Given the description of an element on the screen output the (x, y) to click on. 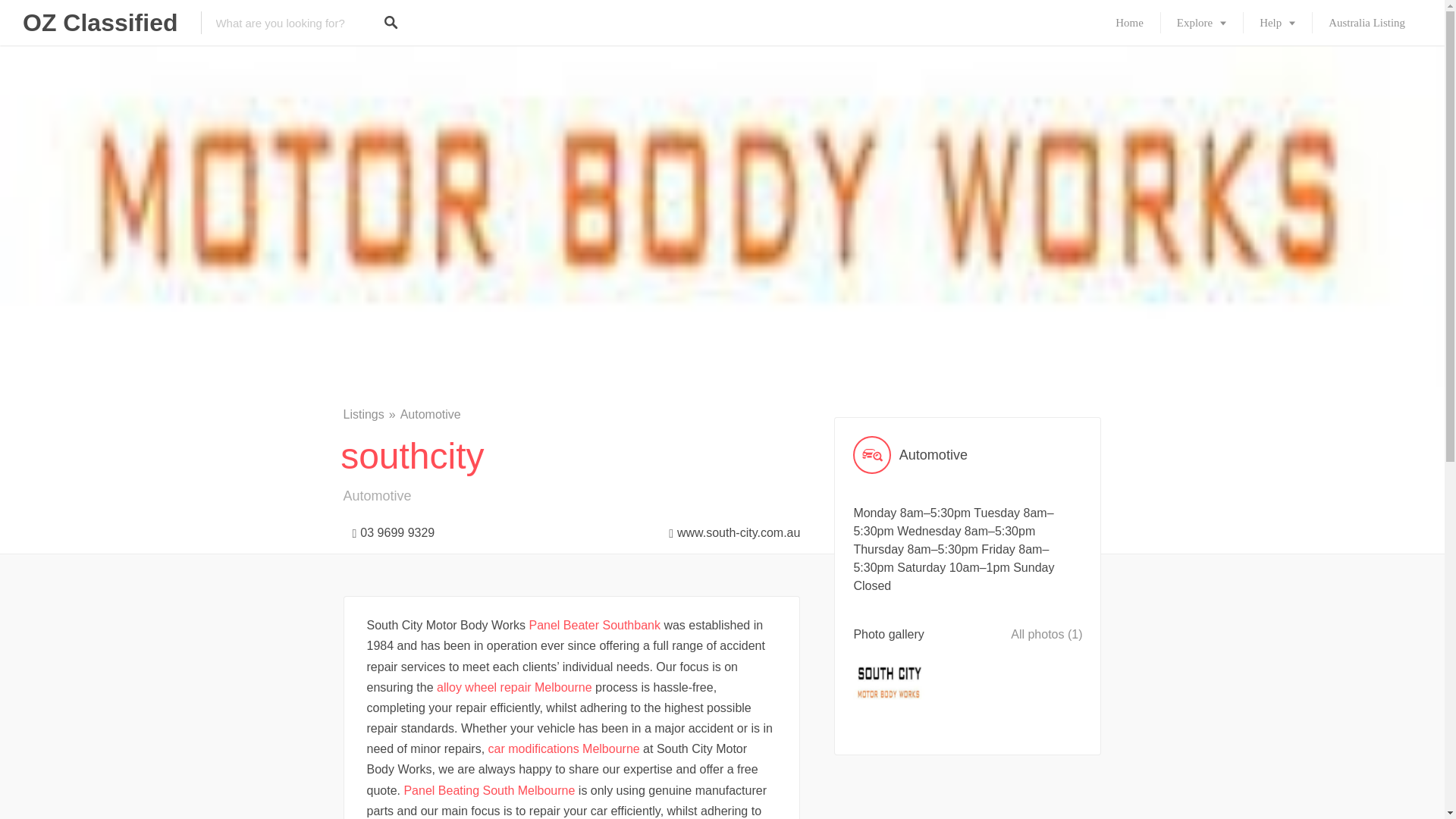
alloy wheel repair Melbourne (514, 686)
Panel Beater Southbank (595, 625)
Help (1277, 22)
www.south-city.com.au (729, 529)
car modifications Melbourne (563, 748)
Listings (370, 414)
Home (1129, 22)
Automotive (967, 454)
OZ Classified (100, 22)
Panel Beating South Melbourne (489, 789)
Australia Listing (1366, 22)
Explore (1201, 22)
03 9699 9329 (387, 529)
Automotive (430, 414)
